Given the description of an element on the screen output the (x, y) to click on. 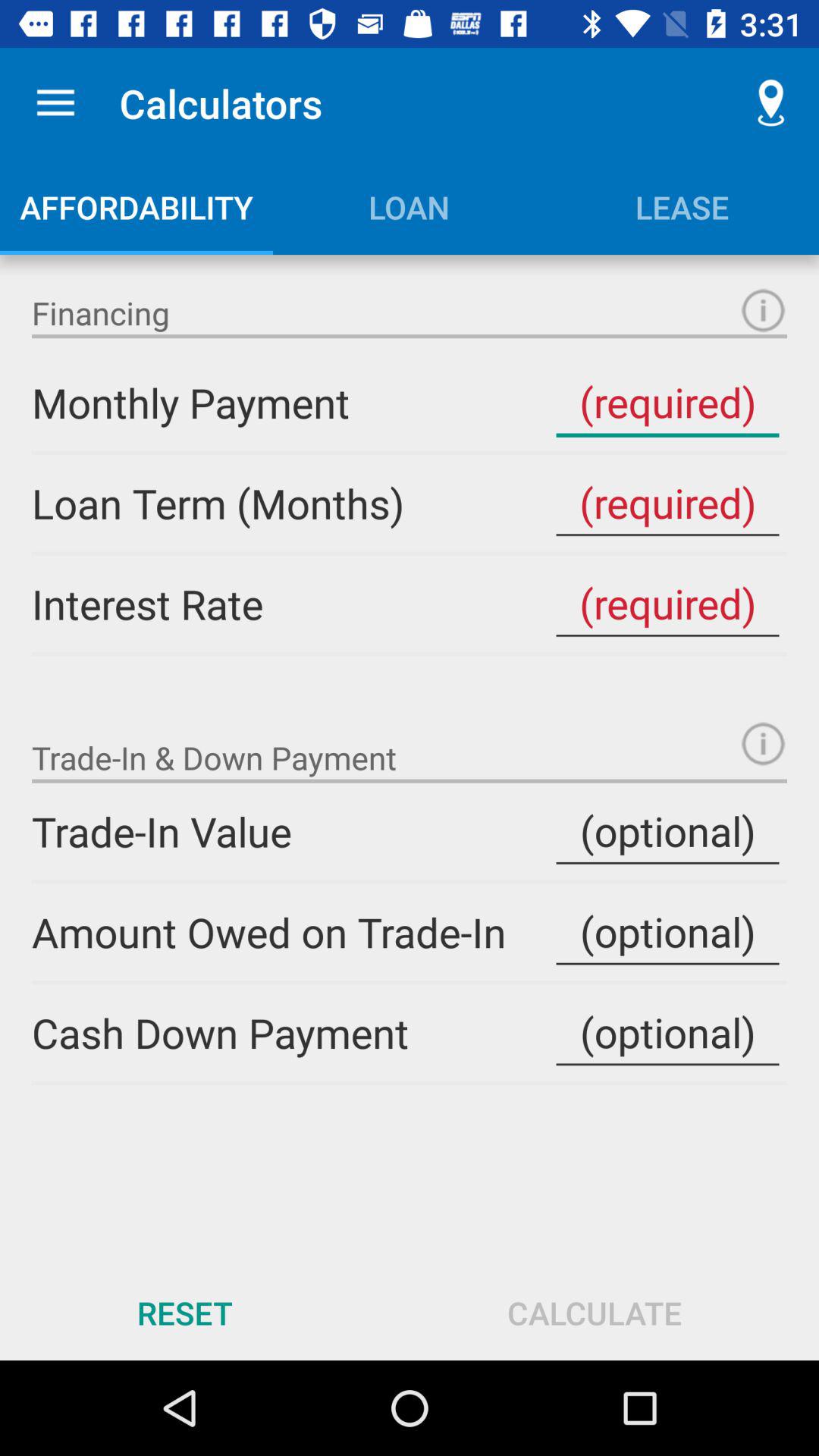
input monthly payment amount (667, 402)
